Given the description of an element on the screen output the (x, y) to click on. 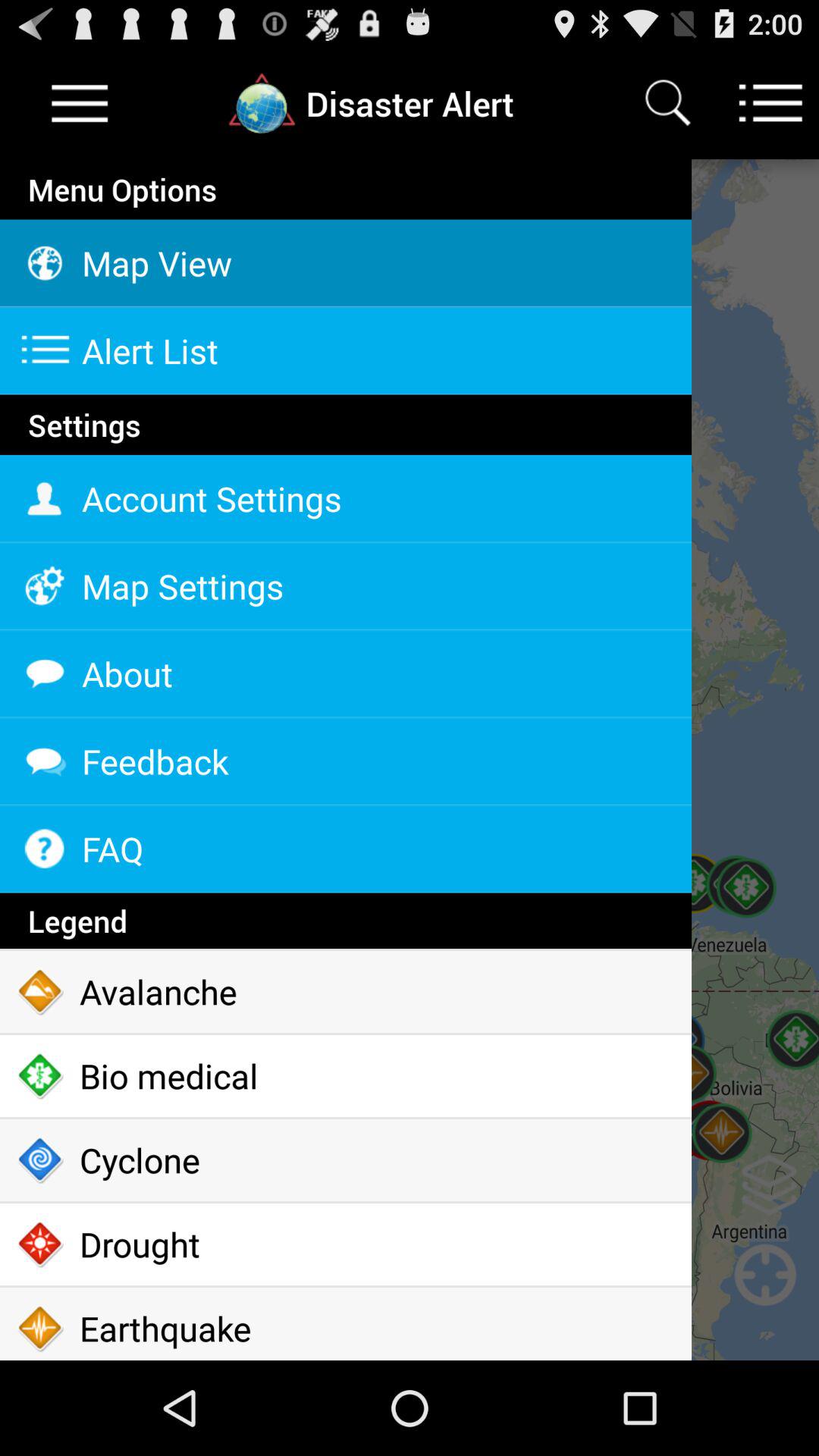
select search icon which is at the top of the page (667, 102)
